Given the description of an element on the screen output the (x, y) to click on. 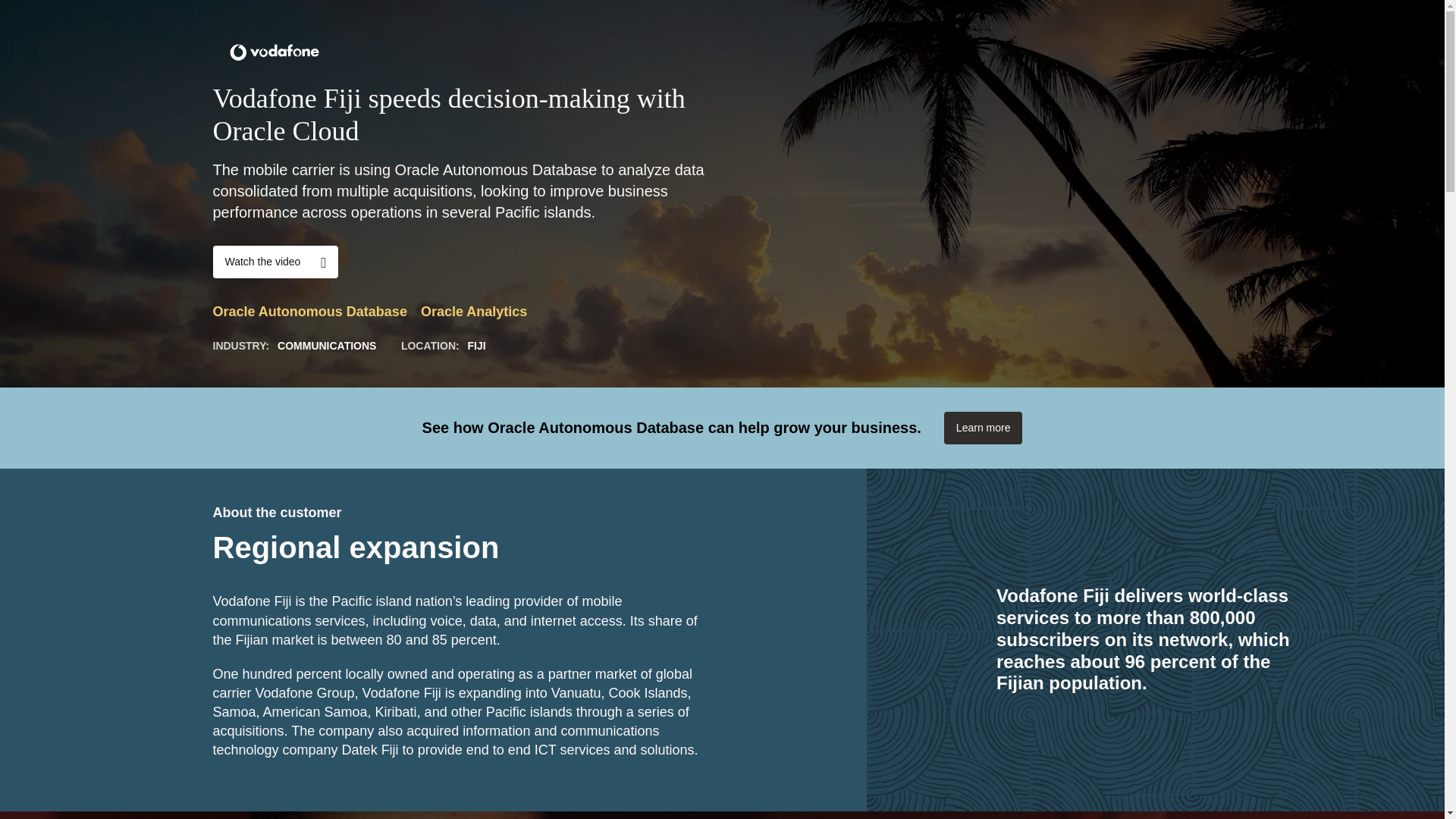
Watch the video (274, 261)
Oracle Autonomous Database (316, 311)
Learn more (983, 427)
Oracle Analytics (480, 311)
